Given the description of an element on the screen output the (x, y) to click on. 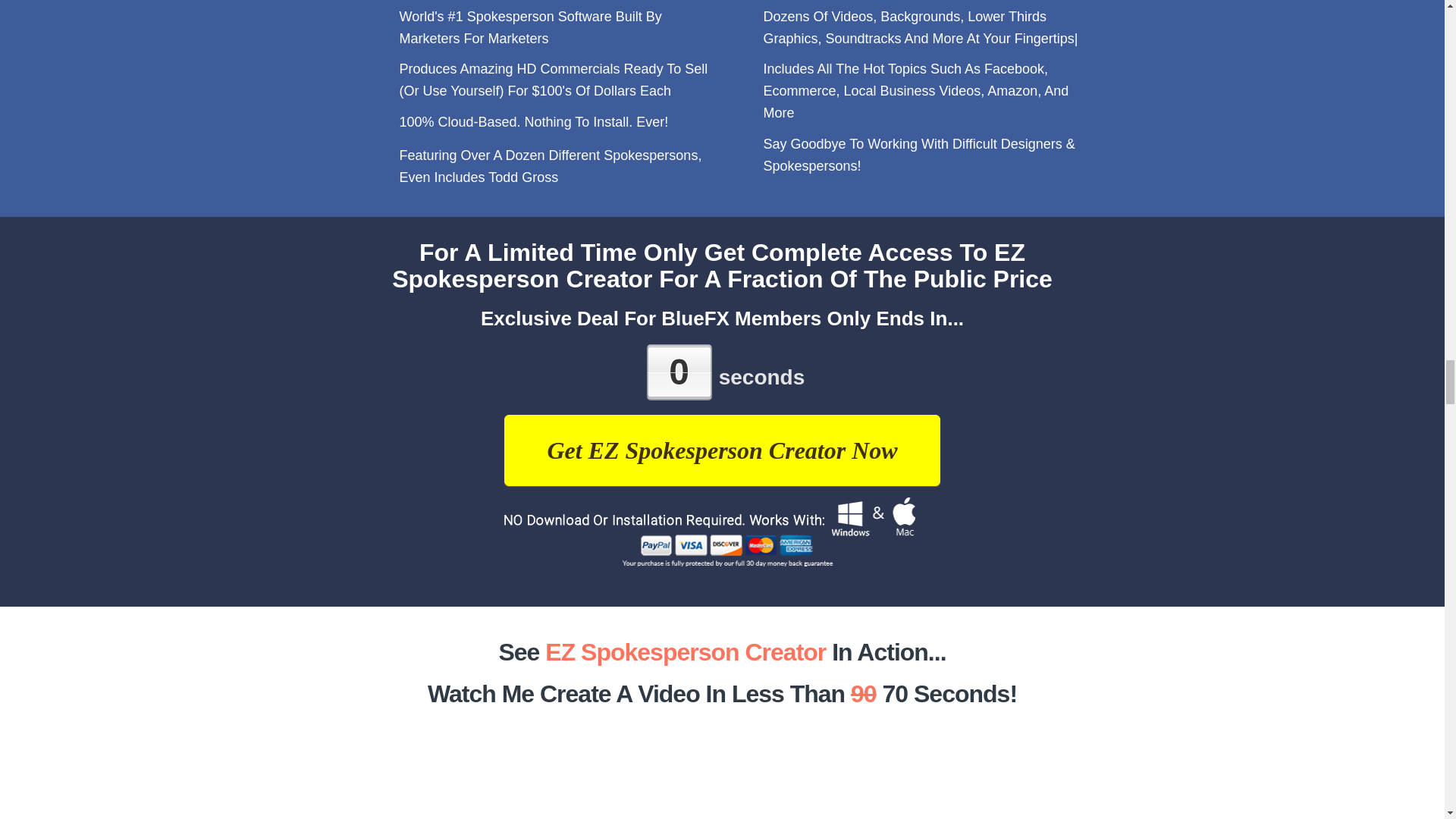
Get EZ Spokesperson Creator Now (721, 450)
